Given the description of an element on the screen output the (x, y) to click on. 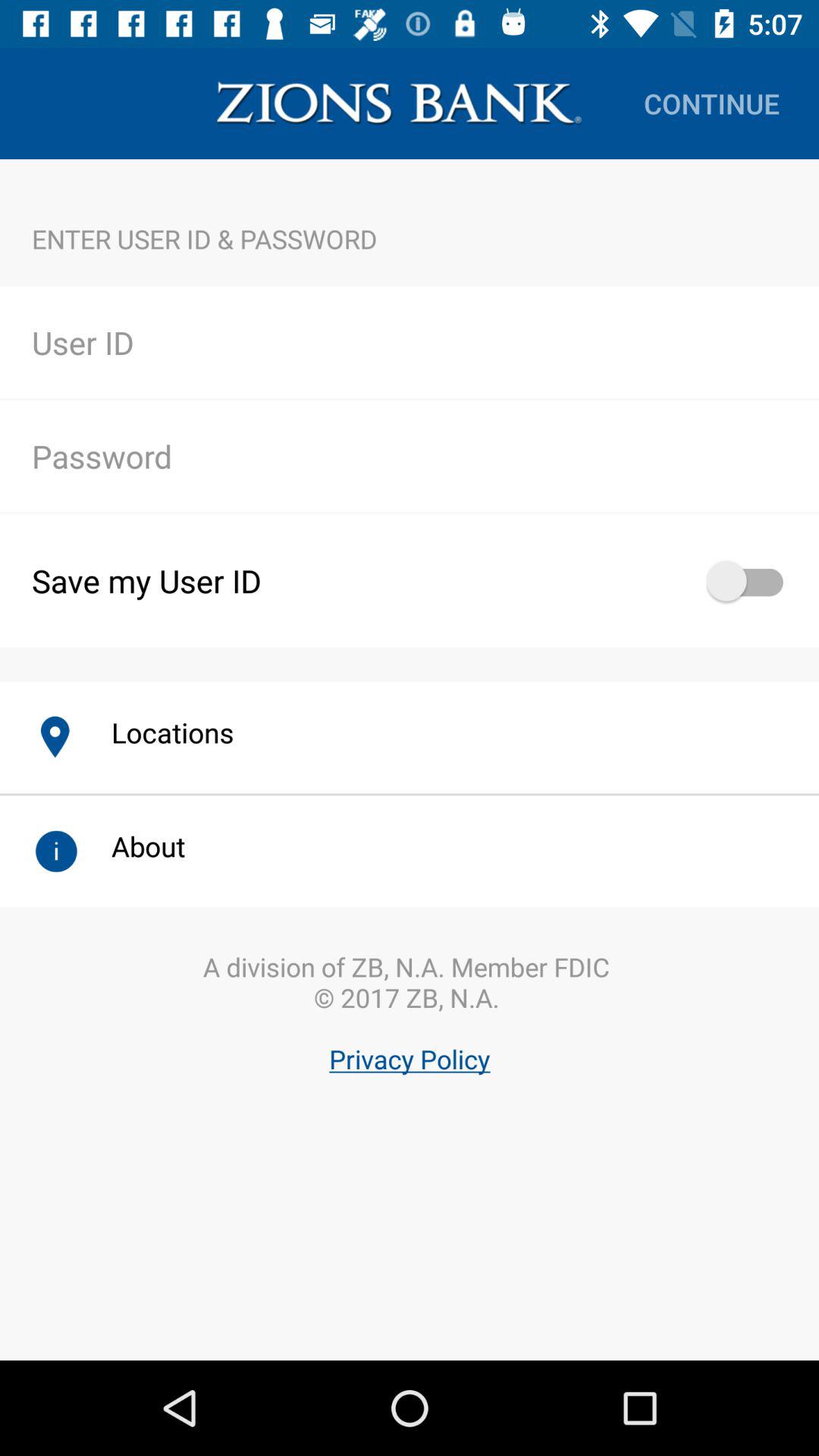
click a division of (409, 1053)
